Given the description of an element on the screen output the (x, y) to click on. 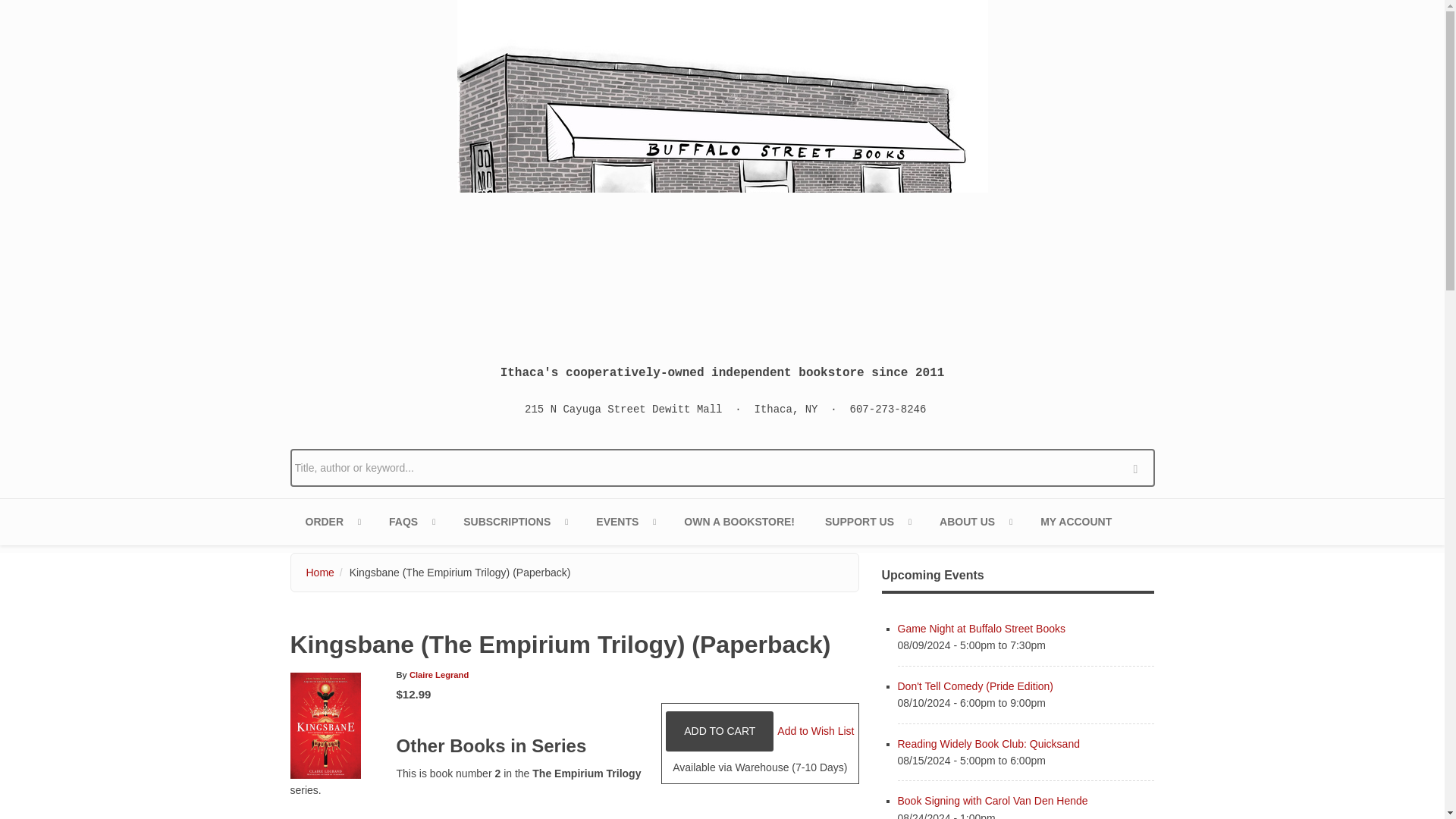
Home (722, 169)
ORDER (331, 521)
Title, author or keyword... (721, 467)
SUBSCRIPTIONS (514, 521)
SUPPORT US (866, 521)
FAQS (411, 521)
ABOUT US (974, 521)
EVENTS (624, 521)
Add to Cart (719, 731)
OWN A BOOKSTORE! (738, 521)
BSB First (514, 521)
